Given the description of an element on the screen output the (x, y) to click on. 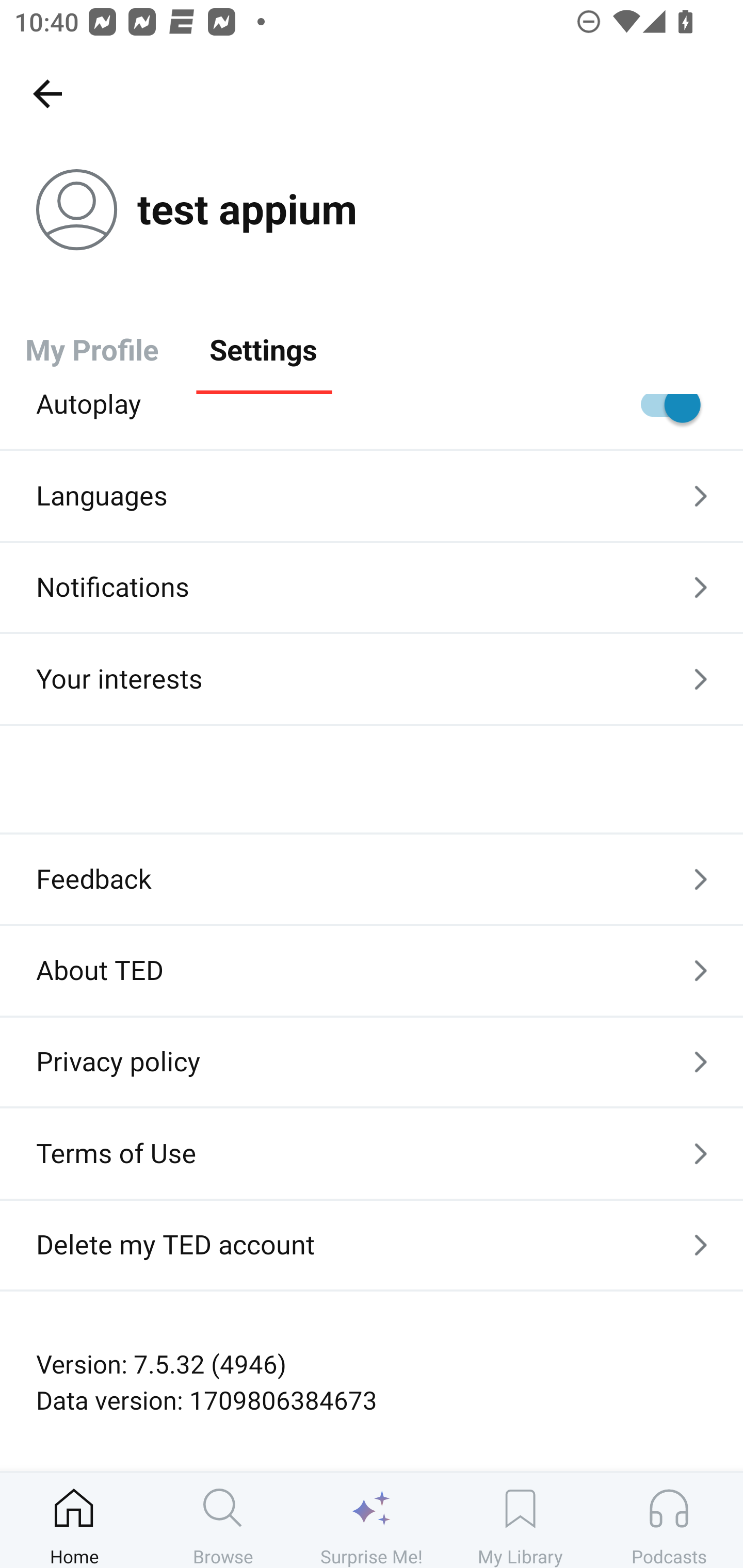
Home, back (47, 92)
My Profile (92, 348)
Settings (263, 348)
Languages (371, 495)
Notifications (371, 586)
Your interests (371, 679)
Feedback (371, 878)
About TED (371, 970)
Privacy policy (371, 1062)
Terms of Use (371, 1152)
Delete my TED account (371, 1244)
Home (74, 1520)
Browse (222, 1520)
Surprise Me! (371, 1520)
My Library (519, 1520)
Podcasts (668, 1520)
